Given the description of an element on the screen output the (x, y) to click on. 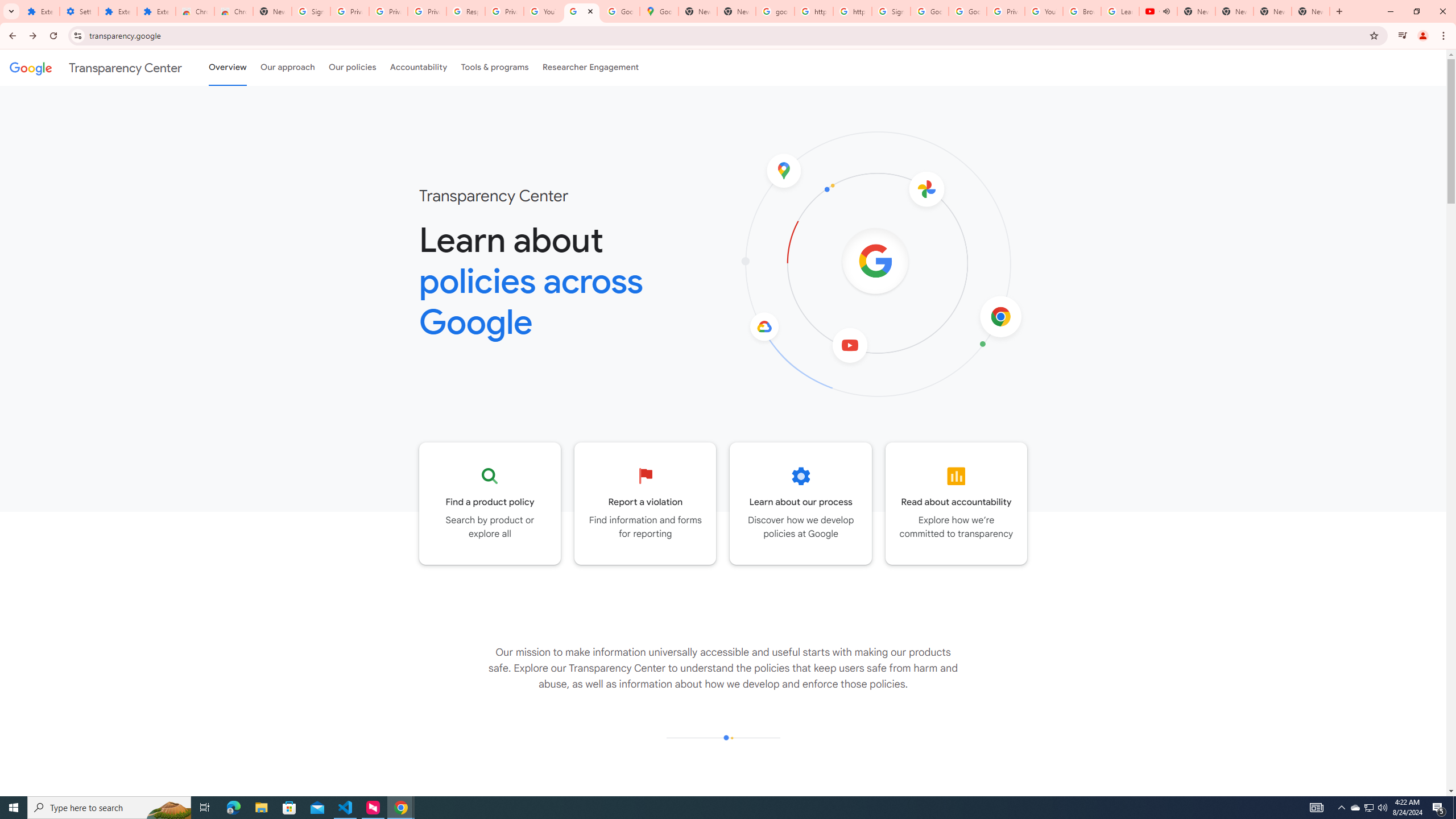
https://scholar.google.com/ (813, 11)
Extensions (156, 11)
Accountability (418, 67)
Go to the Reporting and appeals page (645, 503)
